Given the description of an element on the screen output the (x, y) to click on. 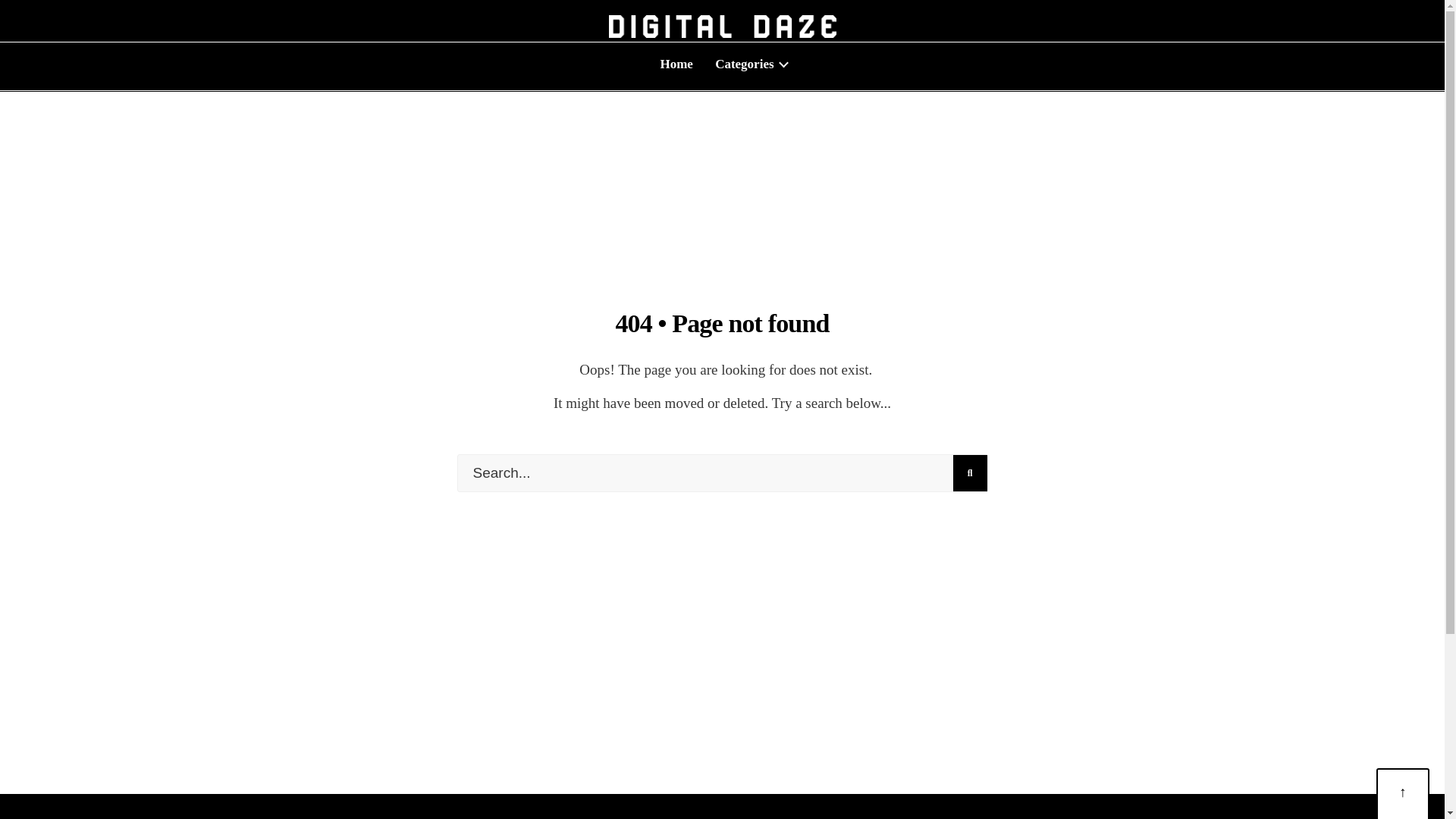
Scroll to top (1402, 794)
Search... (722, 473)
Home (676, 63)
Categories (749, 63)
